Given the description of an element on the screen output the (x, y) to click on. 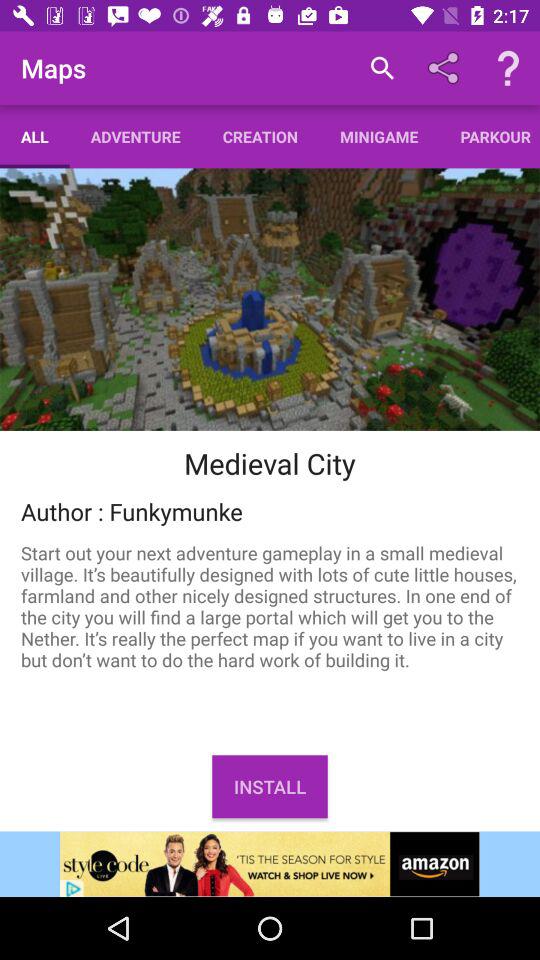
get help (508, 67)
